Given the description of an element on the screen output the (x, y) to click on. 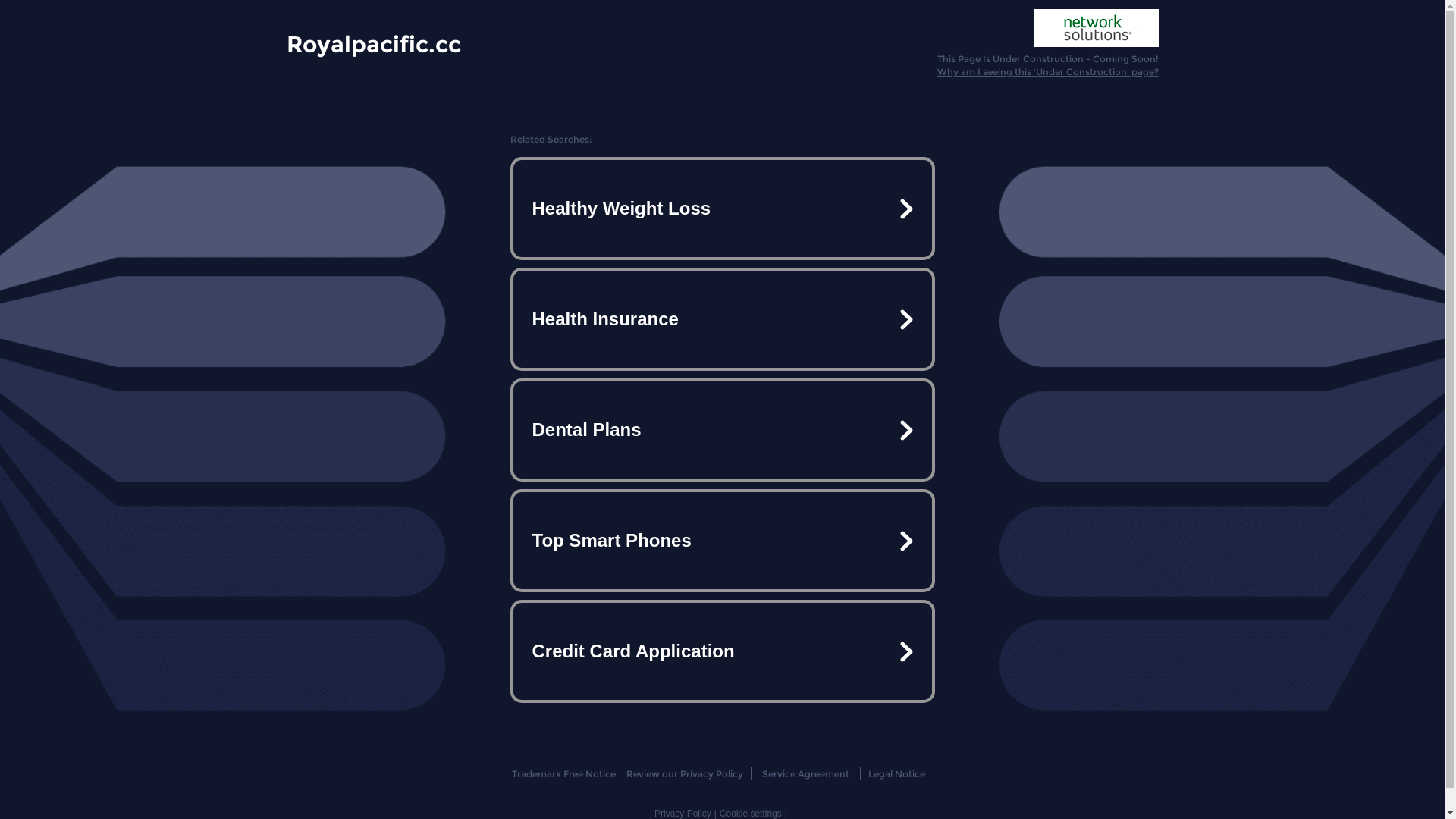
Why am I seeing this 'Under Construction' page? Element type: text (1047, 71)
Service Agreement Element type: text (805, 773)
Royalpacific.cc Element type: text (373, 43)
Healthy Weight Loss Element type: text (721, 208)
Legal Notice Element type: text (896, 773)
Review our Privacy Policy Element type: text (684, 773)
Top Smart Phones Element type: text (721, 540)
Credit Card Application Element type: text (721, 650)
Dental Plans Element type: text (721, 429)
Health Insurance Element type: text (721, 318)
Trademark Free Notice Element type: text (563, 773)
